Given the description of an element on the screen output the (x, y) to click on. 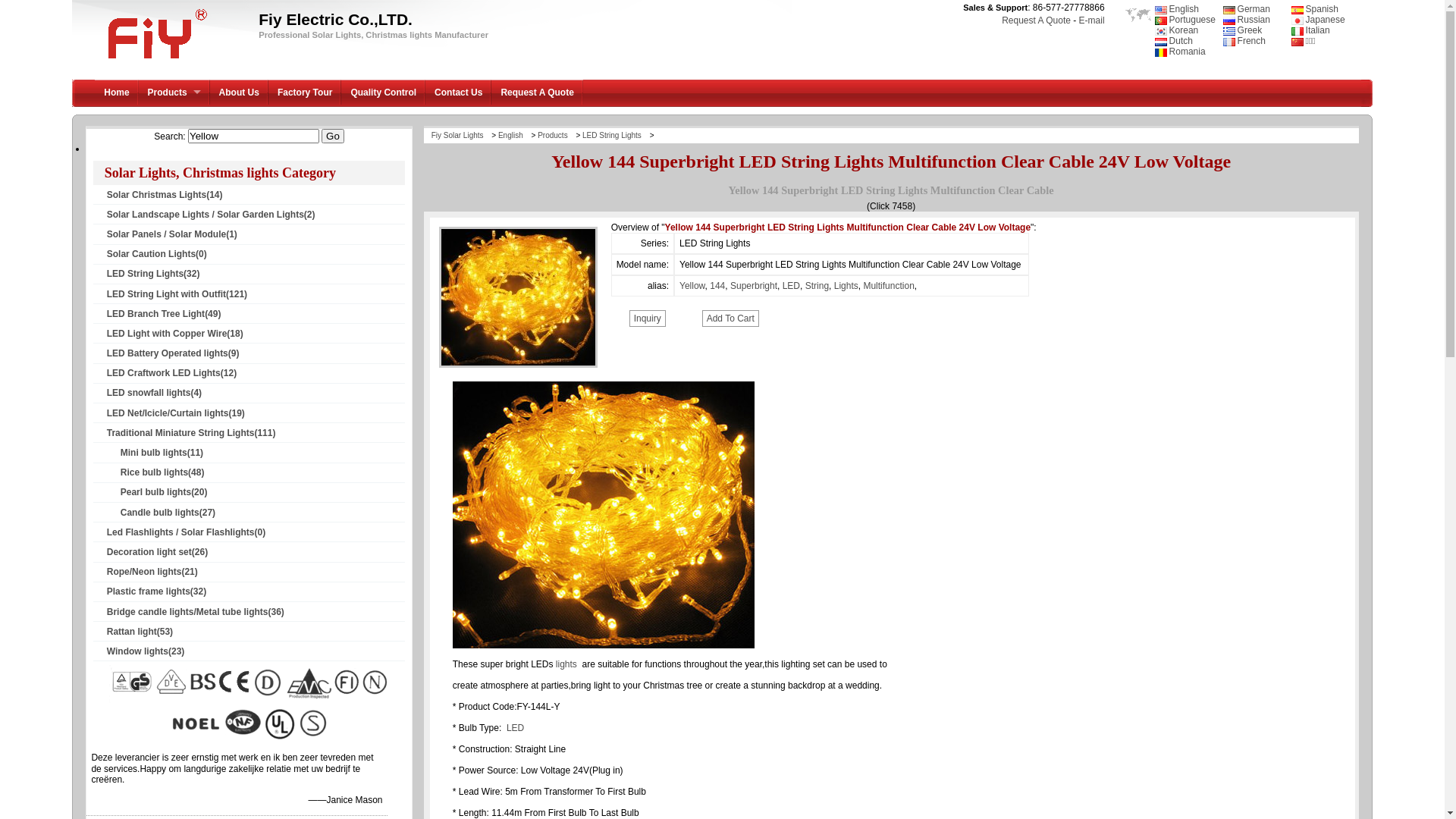
LED Light with Copper Wire(18) Element type: text (255, 333)
Led Flashlights / Solar Flashlights(0) Element type: text (255, 532)
Fiy Solar Lights Element type: text (461, 135)
Rope/Neon lights(21) Element type: text (255, 571)
Products Element type: text (174, 91)
Solar Panels / Solar Module(1) Element type: text (255, 234)
LED String Light with Outfit(121) Element type: text (255, 294)
144 Element type: text (716, 285)
 Go  Element type: text (332, 135)
Dutch Element type: text (1173, 40)
Inquiry Element type: text (647, 318)
Products Element type: text (555, 135)
Bridge candle lights/Metal tube lights(36) Element type: text (255, 611)
LED String Lights Element type: text (614, 135)
Yellow Element type: text (692, 285)
String Element type: text (816, 285)
French Element type: text (1244, 40)
Factory Tour Element type: text (304, 91)
Superbright Element type: text (753, 285)
Multifunction Element type: text (887, 285)
LED String Lights(32) Element type: text (255, 273)
Solar Landscape Lights / Solar Garden Lights(2) Element type: text (255, 214)
E-mail Element type: text (1091, 20)
Japanese Element type: text (1318, 19)
Mini bulb lights(11) Element type: text (255, 452)
Contact Us Element type: text (458, 91)
Spanish Element type: text (1314, 8)
LED Element type: text (791, 285)
Solar Christmas Lights(14) Element type: text (255, 194)
Window lights(23) Element type: text (255, 651)
English Element type: text (1176, 8)
Russian Element type: text (1246, 19)
LED Branch Tree Light(49) Element type: text (255, 313)
Request A Quote Element type: text (536, 91)
lights Element type: text (566, 663)
Pearl bulb lights(20) Element type: text (255, 491)
Greek Element type: text (1242, 30)
Home Element type: text (116, 91)
English Element type: text (513, 135)
Rattan light(53) Element type: text (255, 631)
German Element type: text (1246, 8)
LED Battery Operated lights(9) Element type: text (255, 353)
Decoration light set(26) Element type: text (255, 551)
Traditional Miniature String Lights(111) Element type: text (255, 432)
Plastic frame lights(32) Element type: text (255, 591)
LED Net/Icicle/Curtain lights(19) Element type: text (255, 413)
Add To Cart Element type: text (730, 318)
Romania Element type: text (1179, 51)
Portuguese Element type: text (1184, 19)
Korean Element type: text (1176, 30)
About Us Element type: text (239, 91)
Lights Element type: text (846, 285)
Fiy Electric Co.,LTD. Element type: hover (154, 61)
Request A Quote Element type: text (1035, 20)
Italian Element type: text (1310, 30)
LED snowfall lights(4) Element type: text (255, 392)
Quality Control Element type: text (383, 91)
Solar Caution Lights(0) Element type: text (255, 253)
Candle bulb lights(27) Element type: text (255, 512)
Rice bulb lights(48) Element type: text (255, 472)
LED Element type: text (515, 727)
LED Craftwork LED Lights(12) Element type: text (255, 372)
